Given the description of an element on the screen output the (x, y) to click on. 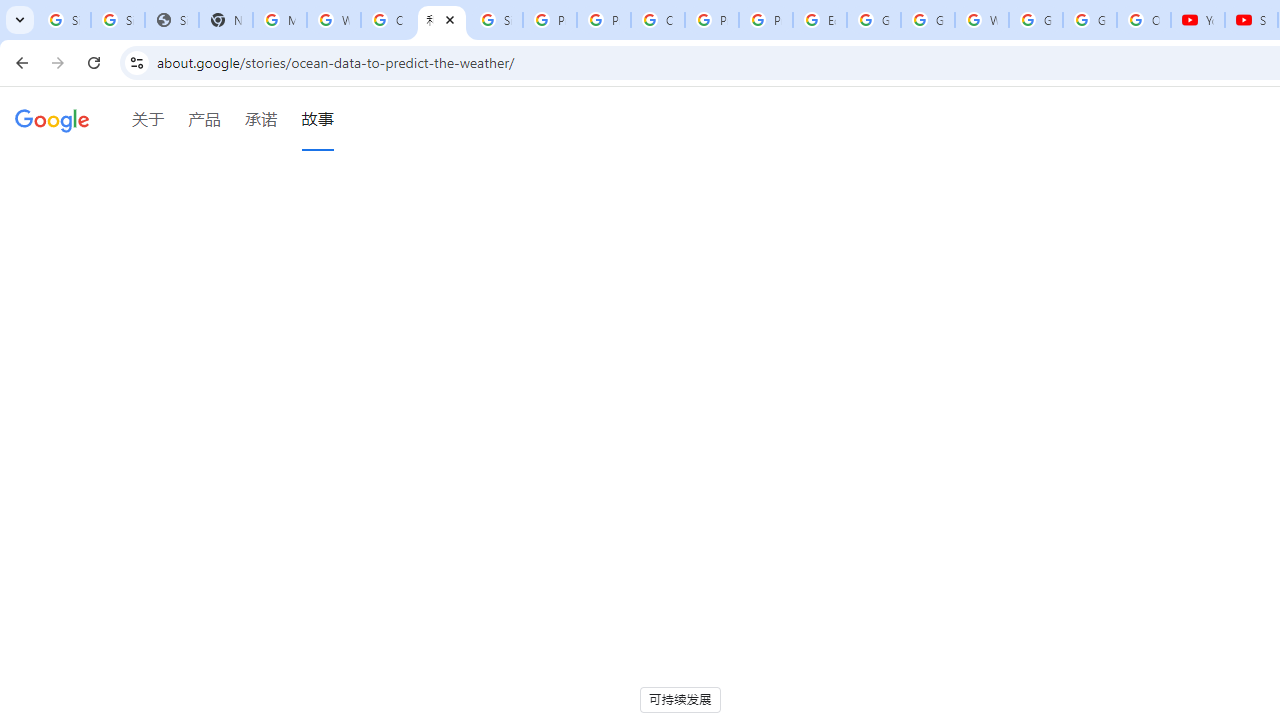
Who is my administrator? - Google Account Help (333, 20)
Sign in - Google Accounts (495, 20)
